Given the description of an element on the screen output the (x, y) to click on. 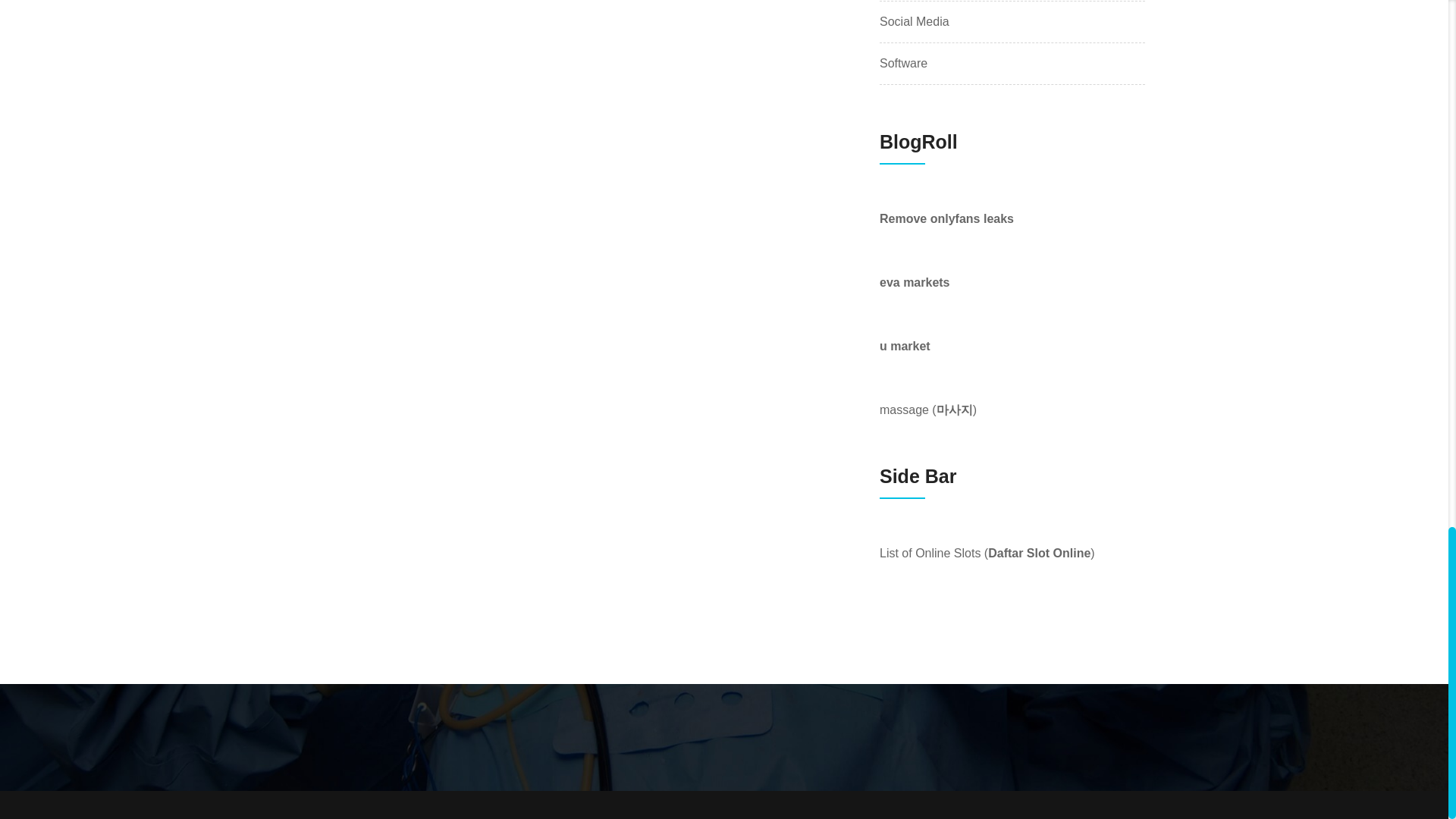
Software (903, 63)
u market (904, 345)
Remove onlyfans leaks (946, 218)
eva markets (914, 282)
Social Media (914, 22)
